Given the description of an element on the screen output the (x, y) to click on. 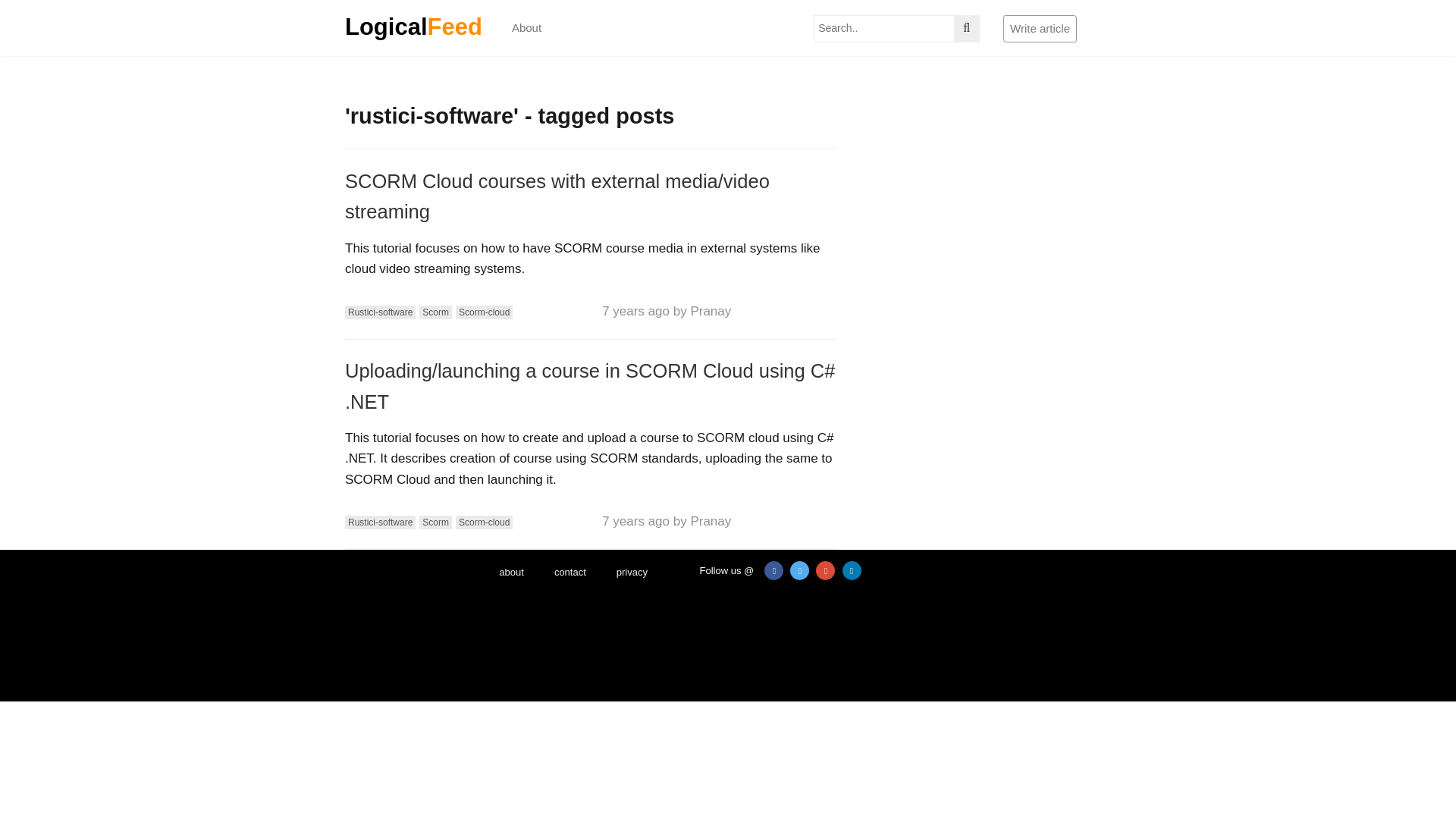
about (510, 572)
Rustici-software (379, 312)
Rustici-software (379, 522)
Scorm (435, 522)
Scorm-cloud (483, 522)
privacy (631, 572)
About (526, 27)
LogicalFeed (413, 29)
Scorm-cloud (483, 312)
contact (569, 572)
